Given the description of an element on the screen output the (x, y) to click on. 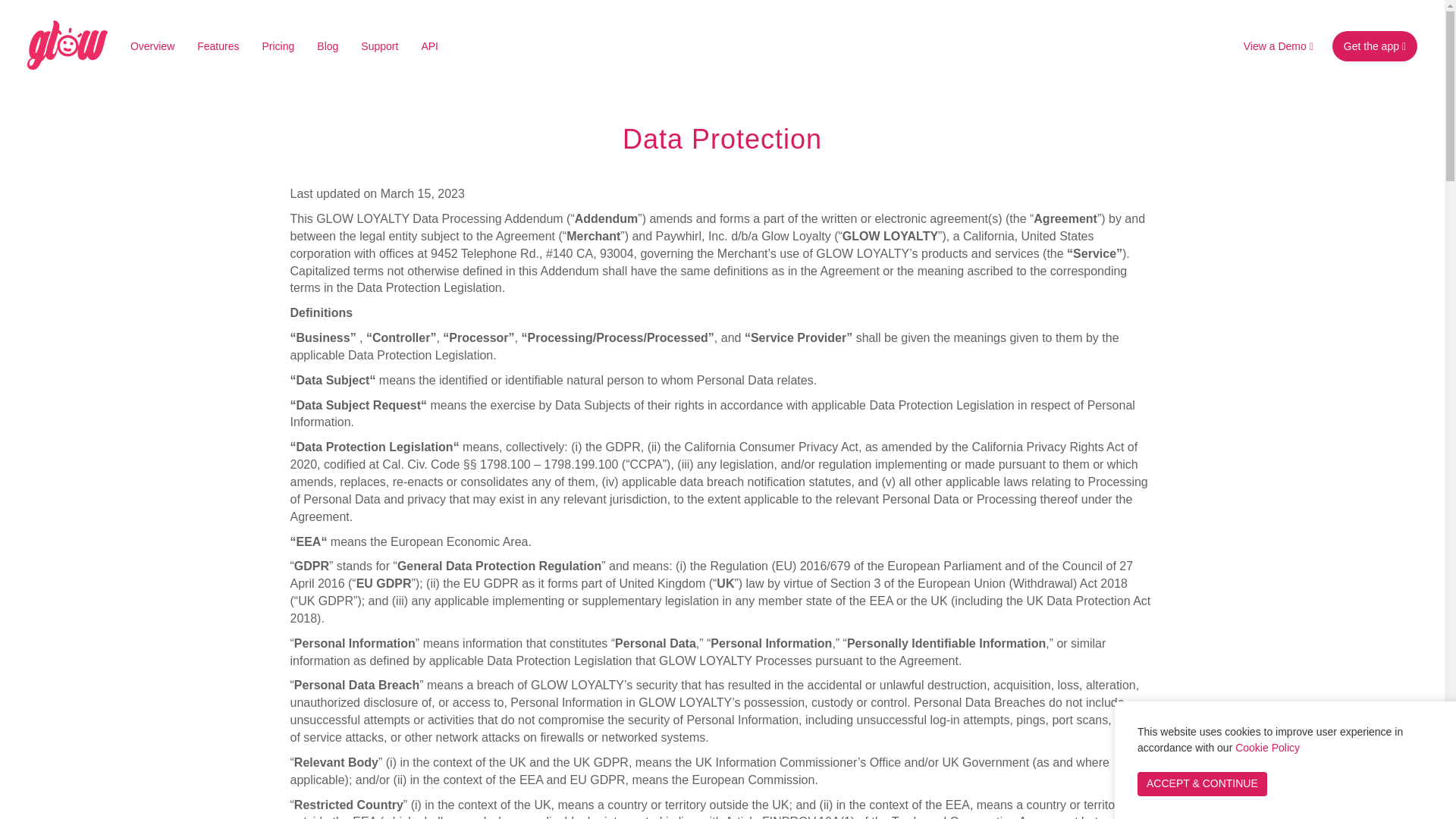
Pricing (277, 46)
View a Demo (1277, 46)
Support (379, 46)
Blog (327, 46)
Get the app (1374, 46)
Overview (152, 46)
Cookie Policy (1267, 747)
Features (218, 46)
API (429, 46)
